Given the description of an element on the screen output the (x, y) to click on. 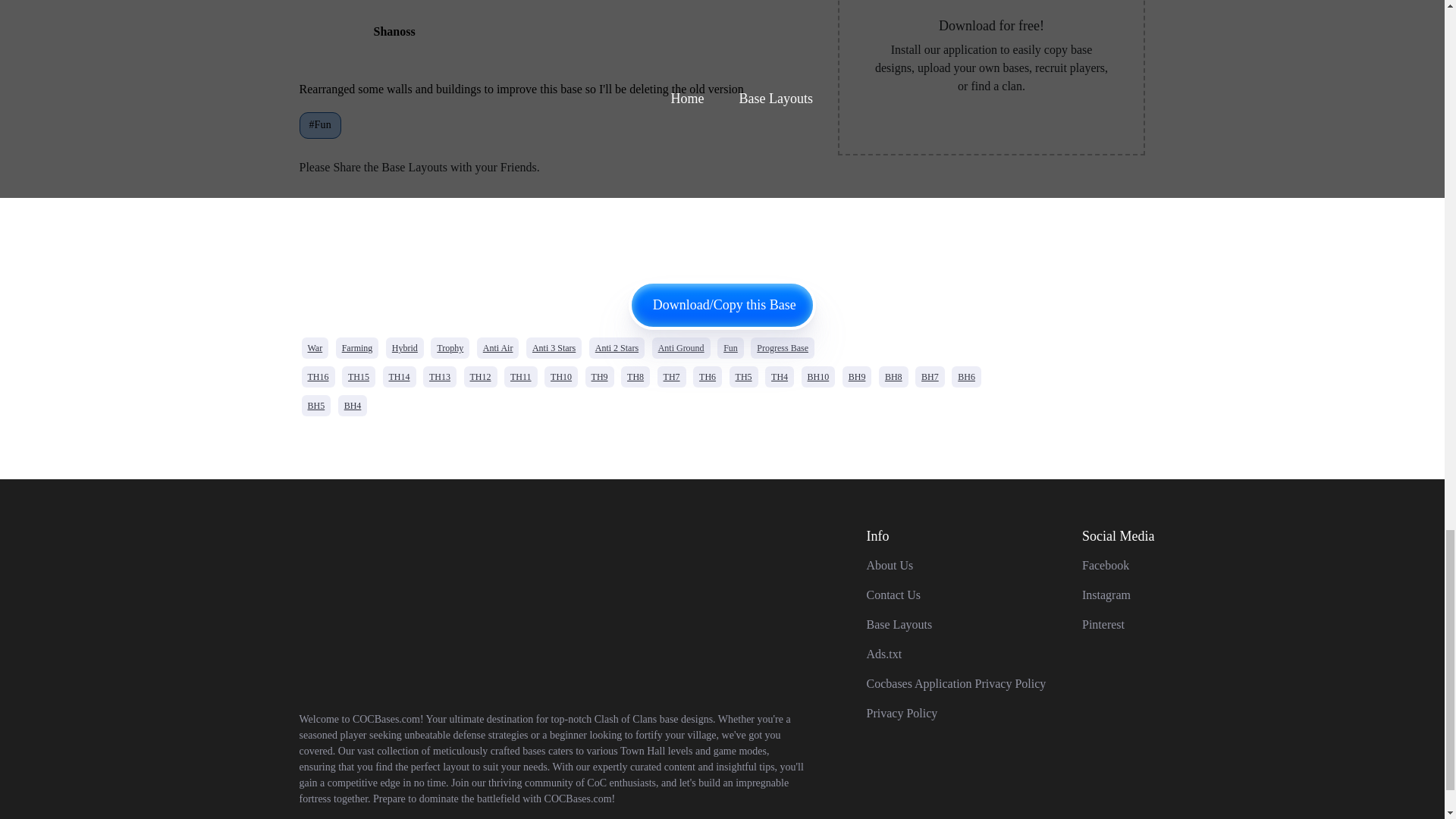
Hybrid (404, 347)
TH9 (599, 376)
TH13 (440, 376)
Trophy (449, 347)
Fun (730, 347)
Farming (357, 347)
TH11 (520, 376)
Anti Air (498, 347)
Anti 2 Stars (617, 347)
TH12 (480, 376)
Anti 3 Stars (552, 347)
Anti Ground (681, 347)
Progress Base (782, 347)
TH16 (317, 376)
TH15 (358, 376)
